Given the description of an element on the screen output the (x, y) to click on. 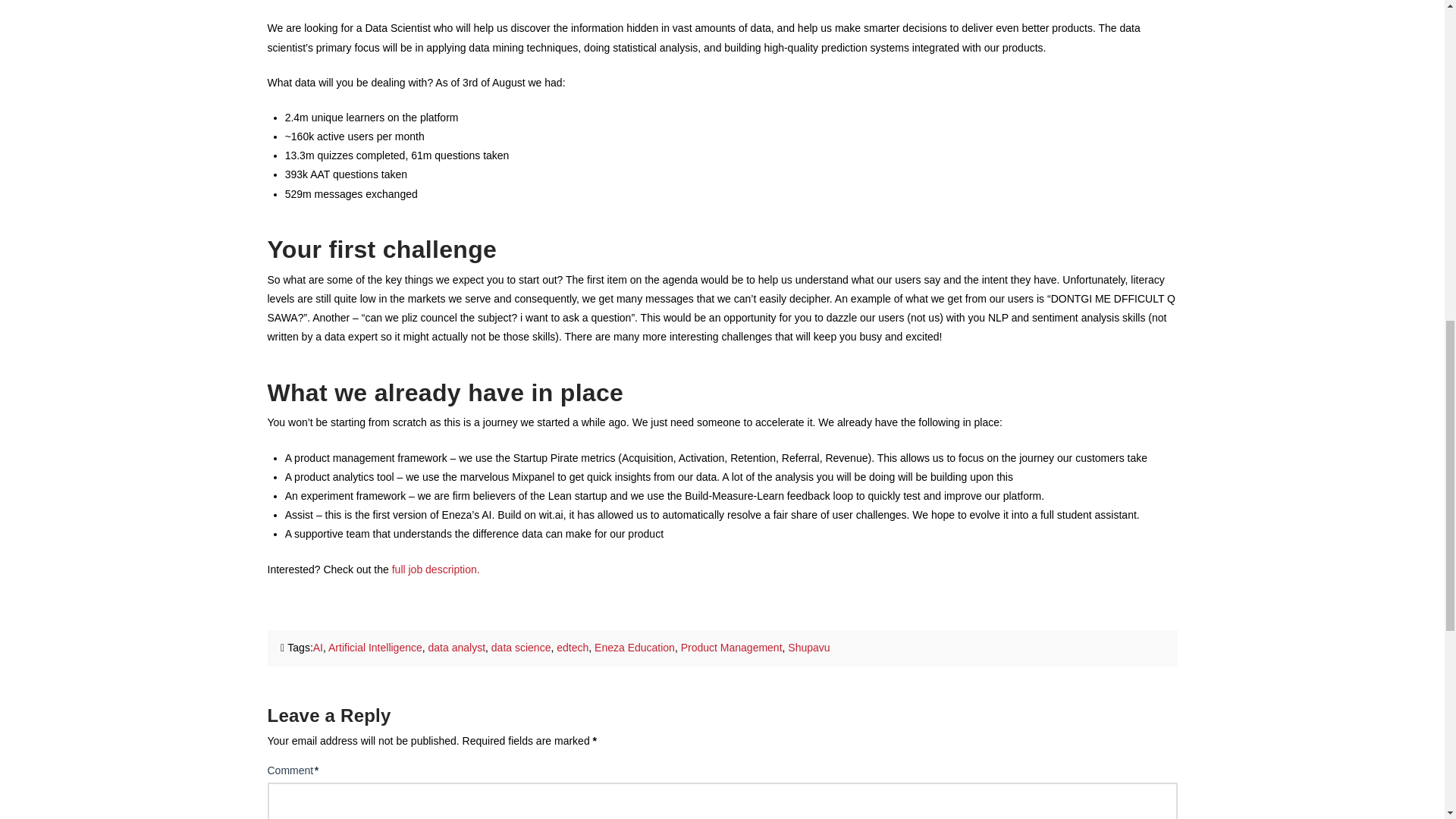
data science (521, 647)
data analyst (457, 647)
edtech (572, 647)
Product Management (732, 647)
Artificial Intelligence (375, 647)
Shupavu (808, 647)
full job description.  (437, 569)
Eneza Education (634, 647)
